Given the description of an element on the screen output the (x, y) to click on. 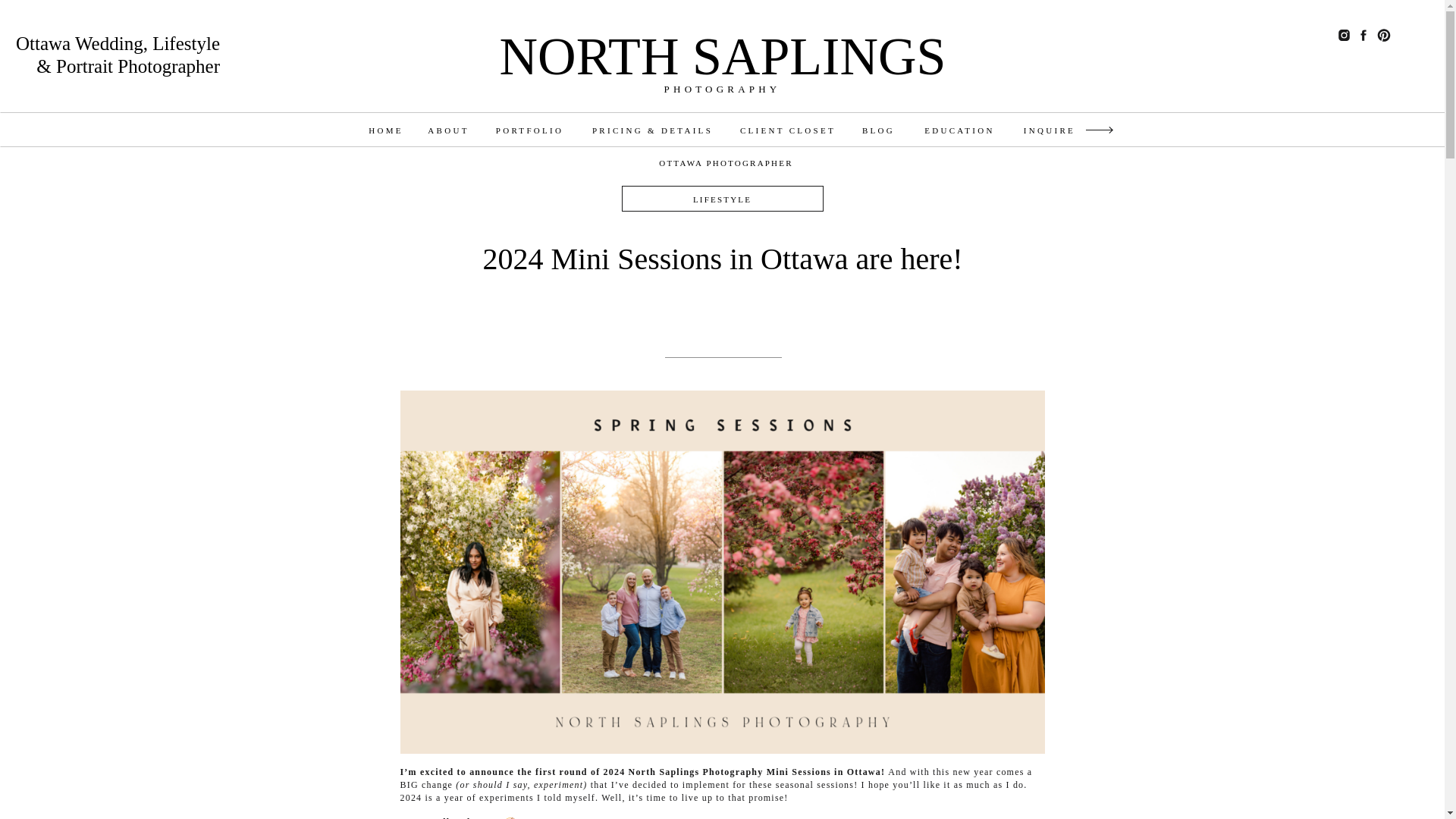
PORTFOLIO (530, 134)
HOME (385, 134)
NORTH SAPLINGS (722, 56)
EDUCATION (959, 134)
INQUIRE (1049, 134)
LIFESTYLE (722, 198)
CLIENT CLOSET (788, 134)
ABOUT (448, 134)
BLOG (879, 134)
PHOTOGRAPHY (721, 88)
